Given the description of an element on the screen output the (x, y) to click on. 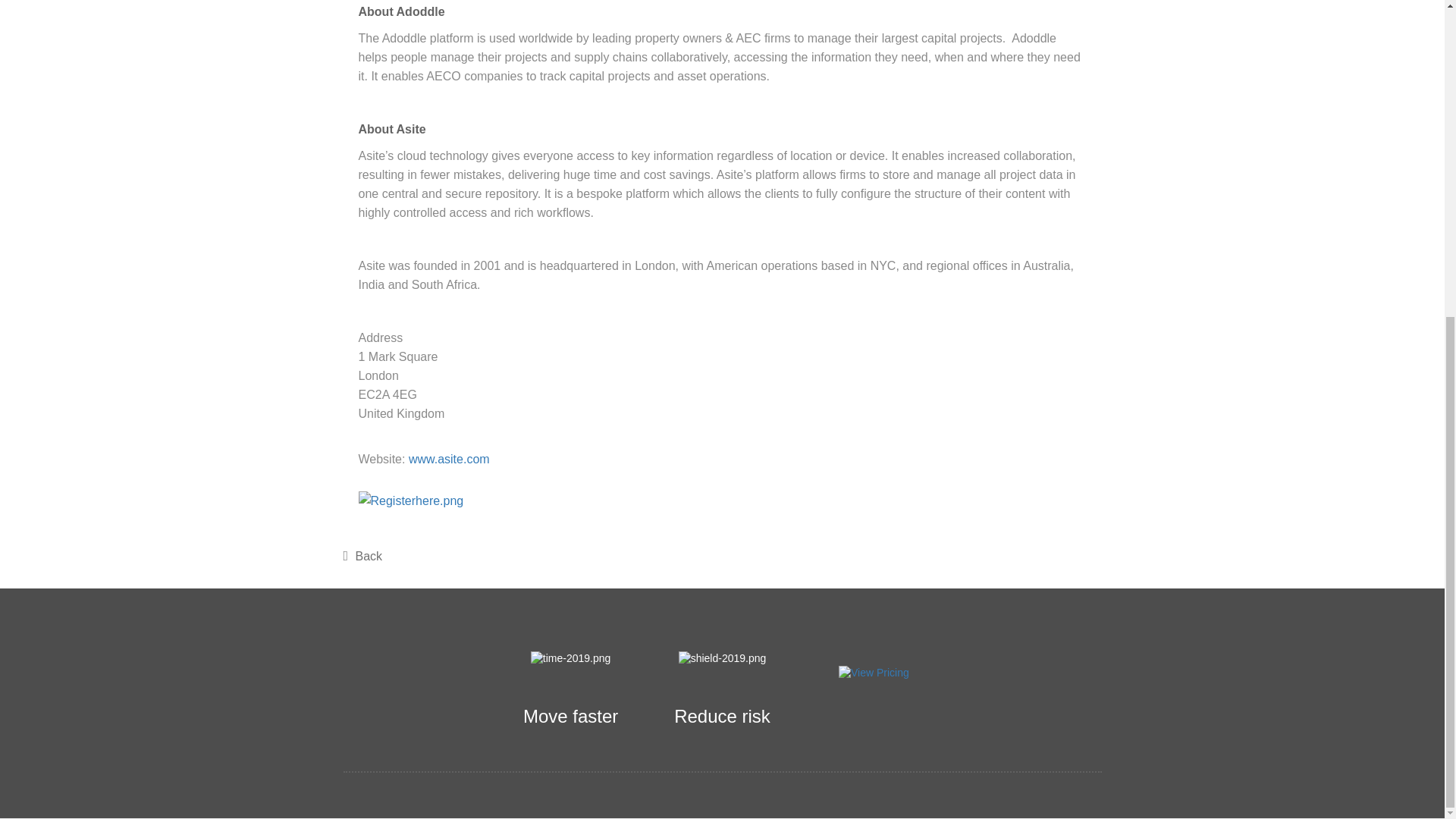
Registerhere.png (425, 500)
